Given the description of an element on the screen output the (x, y) to click on. 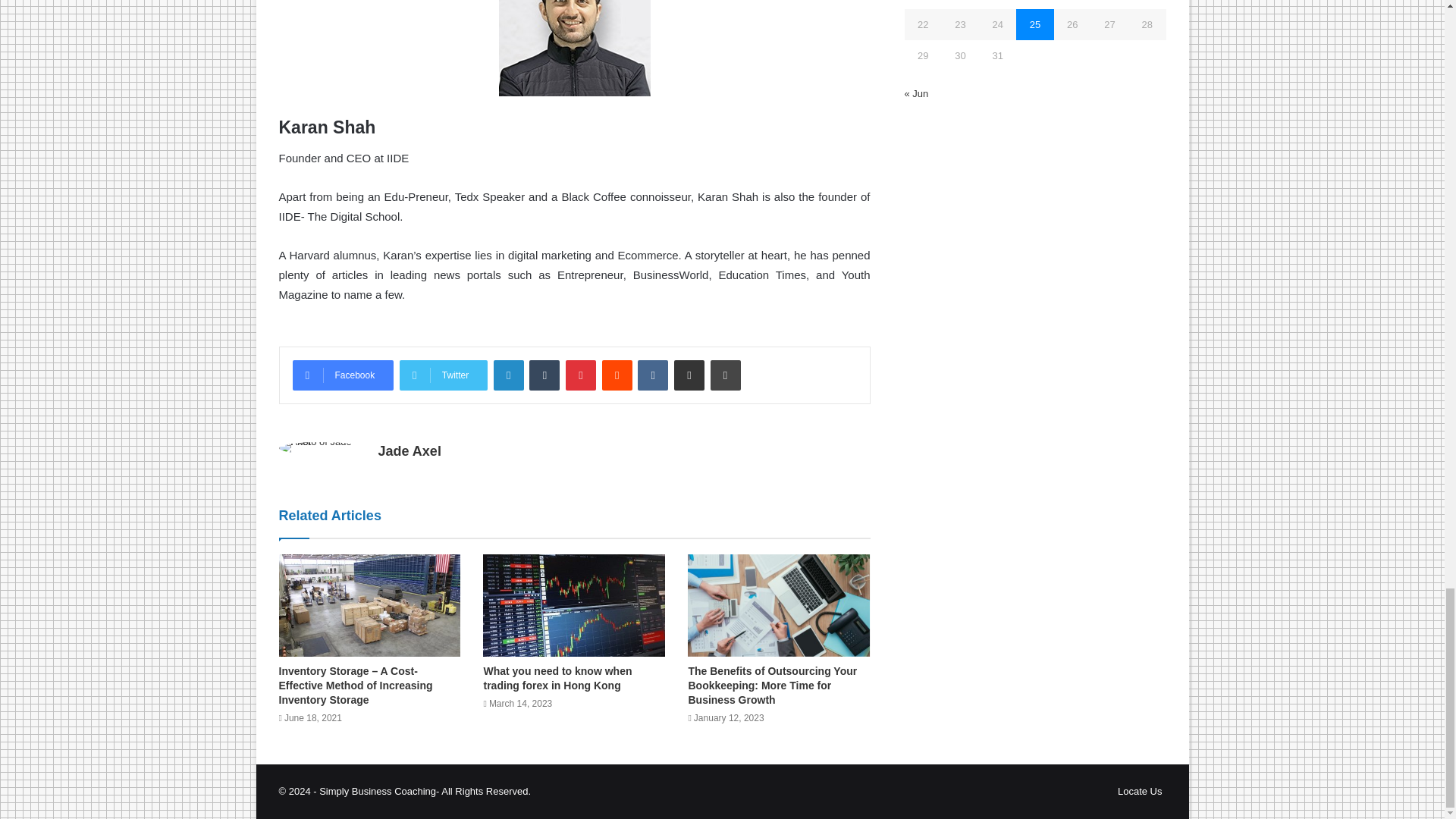
Reddit (616, 375)
Print (725, 375)
Reddit (616, 375)
Print (725, 375)
Twitter (442, 375)
Tumblr (544, 375)
Pinterest (580, 375)
Twitter (442, 375)
Facebook (343, 375)
Facebook (343, 375)
VKontakte (652, 375)
Tumblr (544, 375)
VKontakte (652, 375)
Share via Email (689, 375)
Jade Axel (409, 450)
